Given the description of an element on the screen output the (x, y) to click on. 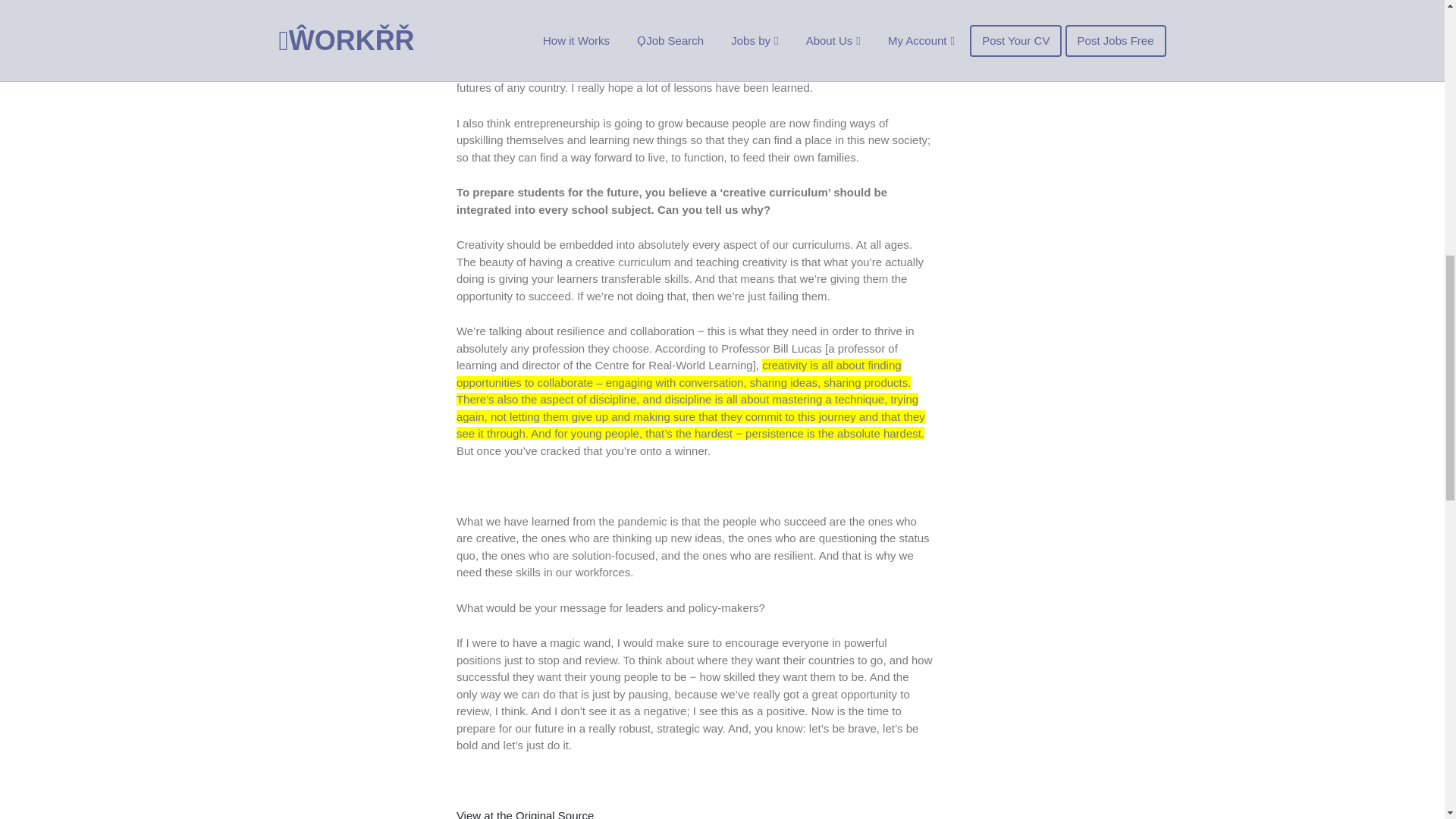
Jobs in Gujarat (1023, 15)
View at the Original Source (525, 814)
Jobs in Telangana (1031, 32)
Jobs in Madhya Pradesh (1047, 2)
